Given the description of an element on the screen output the (x, y) to click on. 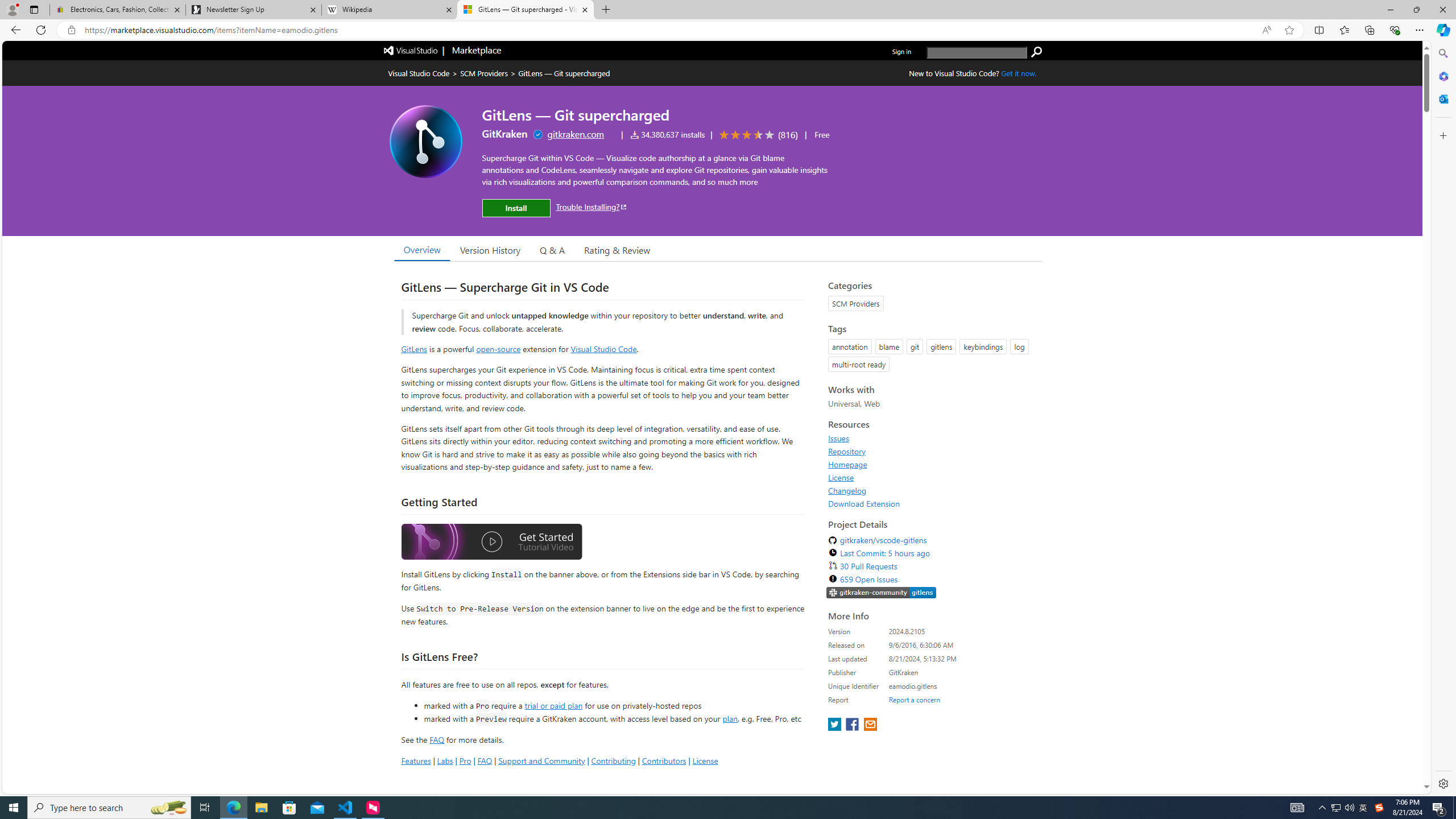
Version History (489, 249)
Repository (931, 451)
Contributors (663, 760)
Download Extension (863, 503)
Download Extension (931, 503)
search (976, 52)
Changelog (847, 490)
Issues (838, 437)
Pro (464, 760)
